Given the description of an element on the screen output the (x, y) to click on. 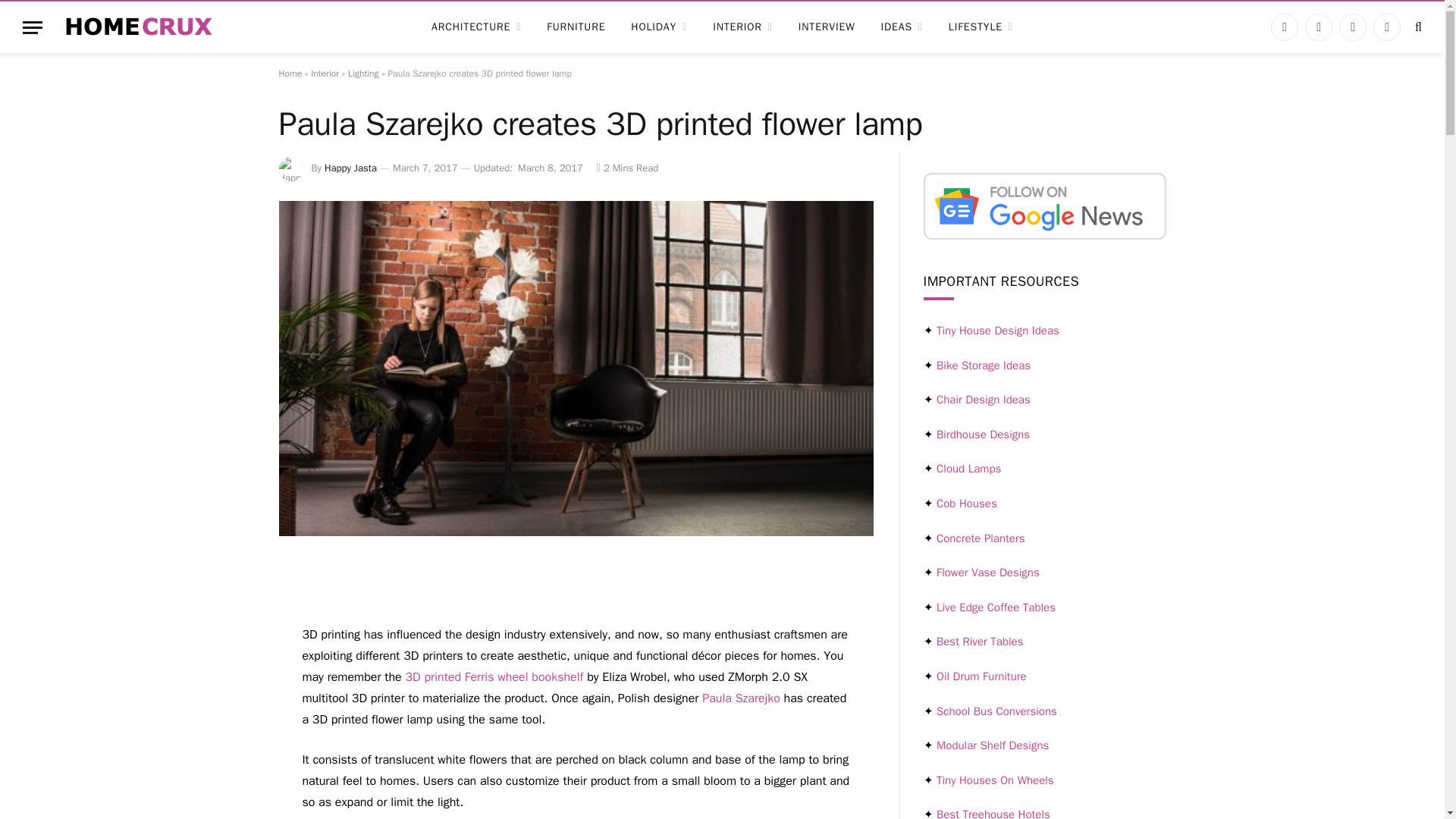
Homecrux (138, 27)
ARCHITECTURE (476, 27)
FURNITURE (575, 27)
Posts by Happy Jasta (350, 167)
